Given the description of an element on the screen output the (x, y) to click on. 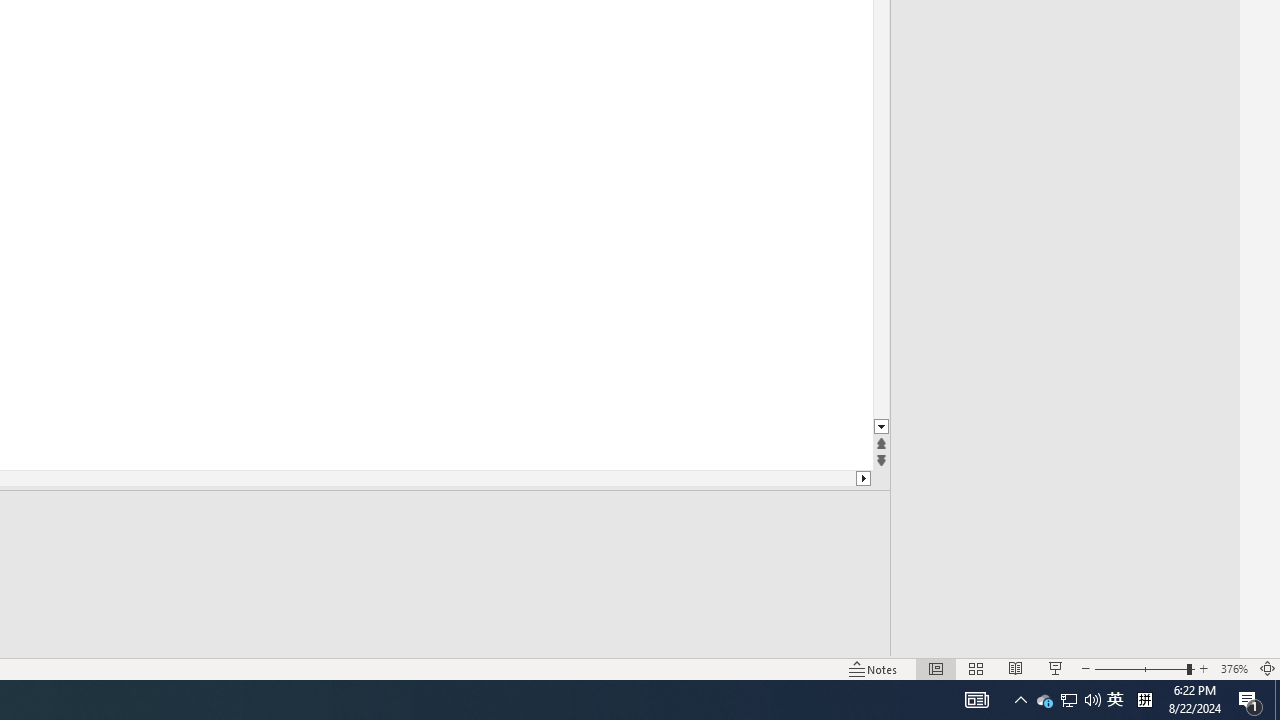
Zoom 376% (1234, 668)
